Given the description of an element on the screen output the (x, y) to click on. 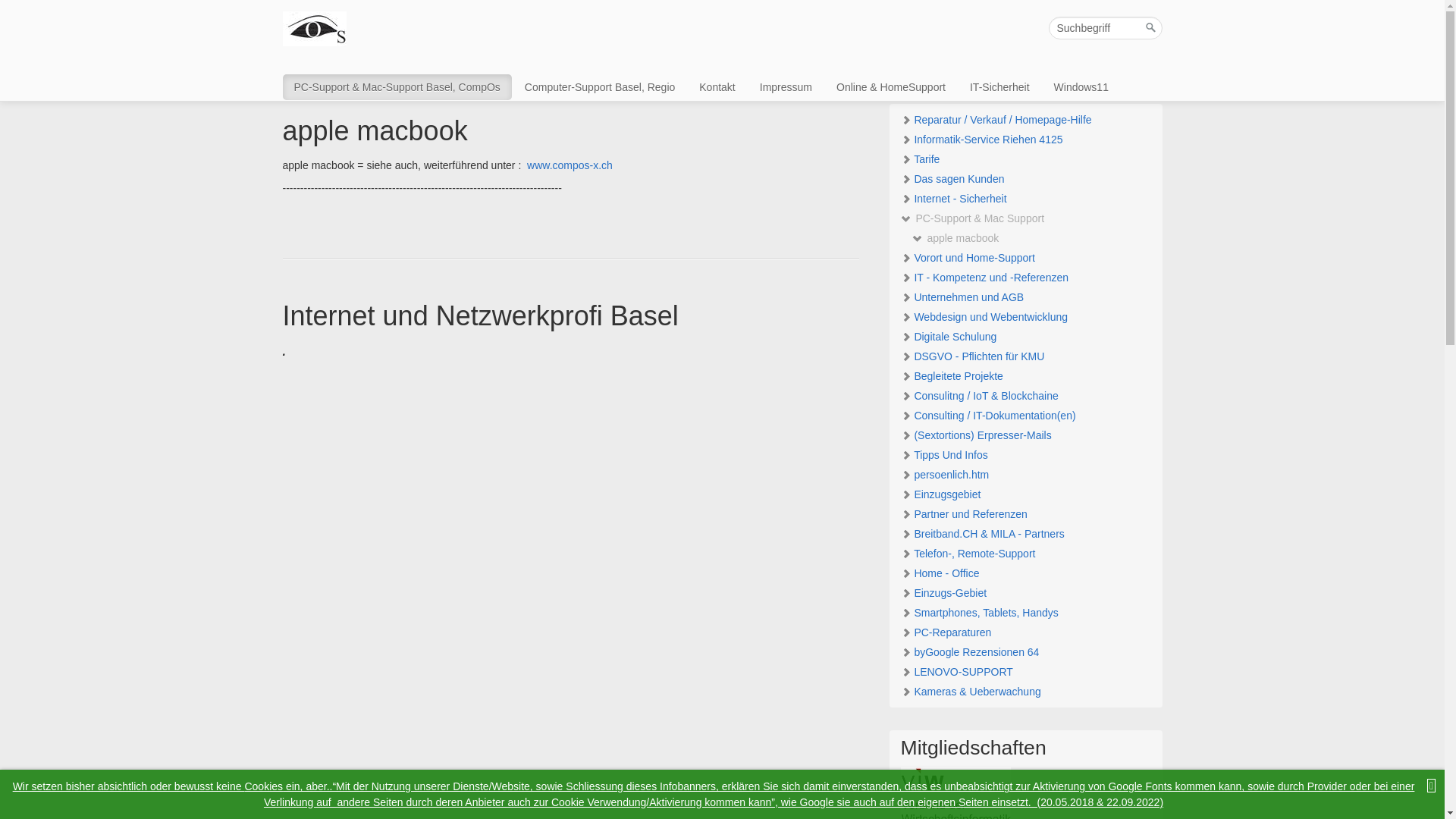
  PC-Support & Mac Support Element type: text (1024, 218)
PC-Support & Mac-Support Basel, CompOs Element type: text (396, 87)
  IT - Kompetenz und -Referenzen Element type: text (1024, 277)
  Unternehmen und AGB Element type: text (1024, 297)
  Smartphones, Tablets, Handys Element type: text (1024, 612)
  Begleitete Projekte Element type: text (1024, 375)
  Telefon-, Remote-Support Element type: text (1024, 553)
  Partner und Referenzen Element type: text (1024, 514)
  Einzugsgebiet Element type: text (1024, 494)
  Consulting / IT-Dokumentation(en) Element type: text (1024, 415)
  Das sagen Kunden Element type: text (1024, 178)
  LENOVO-SUPPORT Element type: text (1024, 671)
Computer-Support Basel, Regio Element type: text (599, 87)
  (Sextortions) Erpresser-Mails Element type: text (1024, 435)
  Informatik-Service Riehen 4125 Element type: text (1024, 139)
Windows11 Element type: text (1081, 87)
  apple macbook Element type: text (954, 238)
  Home - Office Element type: text (1024, 573)
  Internet - Sicherheit Element type: text (1024, 198)
  Tipps Und Infos Element type: text (1024, 454)
  Reparatur / Verkauf / Homepage-Hilfe Element type: text (1024, 119)
www.compos-x.ch Element type: text (569, 165)
Kontakt Element type: text (716, 87)
  PC-Reparaturen Element type: text (1024, 632)
  persoenlich.htm Element type: text (1024, 474)
  Breitband.CH & MILA - Partners Element type: text (1024, 533)
  Einzugs-Gebiet Element type: text (1024, 592)
Impressum Element type: text (785, 87)
Cookies Element type: text (263, 786)
  byGoogle Rezensionen 64 Element type: text (1024, 652)
  Kameras & Ueberwachung Element type: text (1024, 691)
  Consulitng / IoT & Blockchaine Element type: text (1024, 395)
  Vorort und Home-Support Element type: text (1024, 257)
  Digitale Schulung Element type: text (1024, 336)
  Tarife Element type: text (1024, 159)
Online & HomeSupport Element type: text (891, 87)
  Webdesign und Webentwicklung Element type: text (1024, 316)
IT-Sicherheit Element type: text (999, 87)
